Given the description of an element on the screen output the (x, y) to click on. 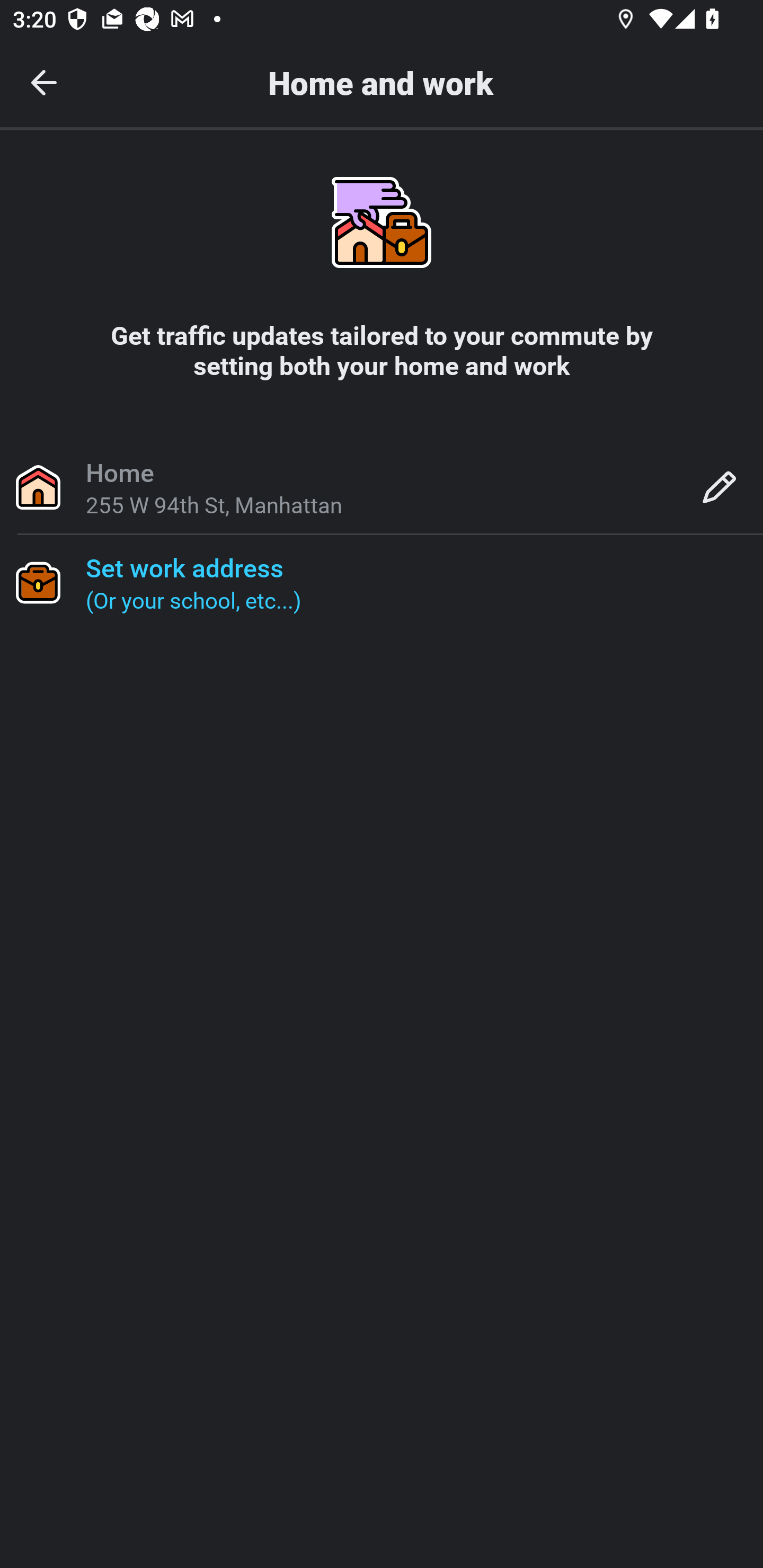
Home 255 W 94th St, Manhattan (381, 486)
Set work address (Or your school, etc...) (381, 582)
